Given the description of an element on the screen output the (x, y) to click on. 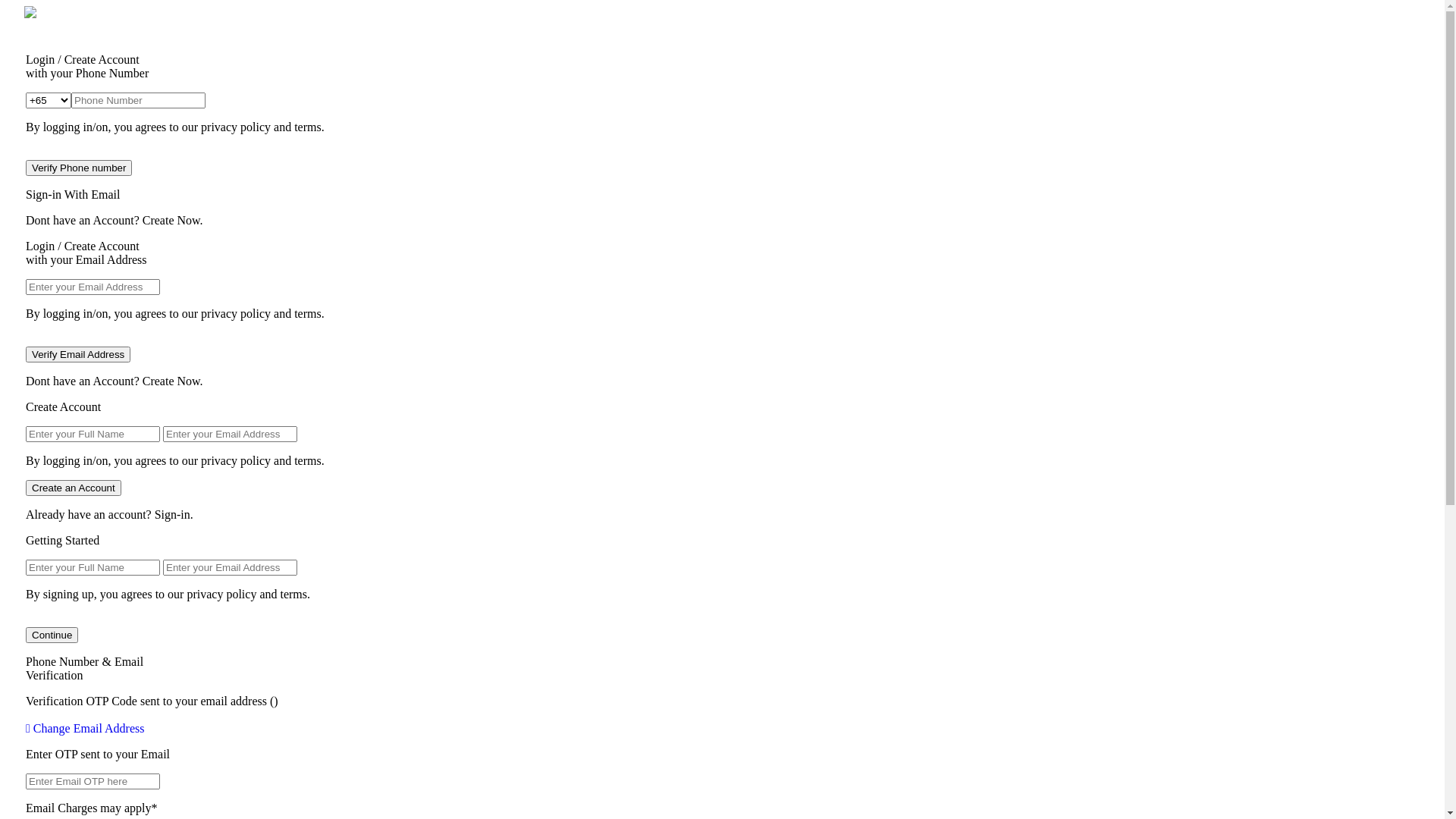
Dont have an Account? Create Now. Element type: text (721, 381)
Already have an account? Sign-in. Element type: text (721, 514)
Continue Element type: text (51, 635)
Sign-in With Email Element type: text (721, 194)
Verify Email Address Element type: text (77, 354)
Verify Phone number Element type: text (78, 167)
Dont have an Account? Create Now. Element type: text (721, 220)
Create an Account Element type: text (73, 487)
